Given the description of an element on the screen output the (x, y) to click on. 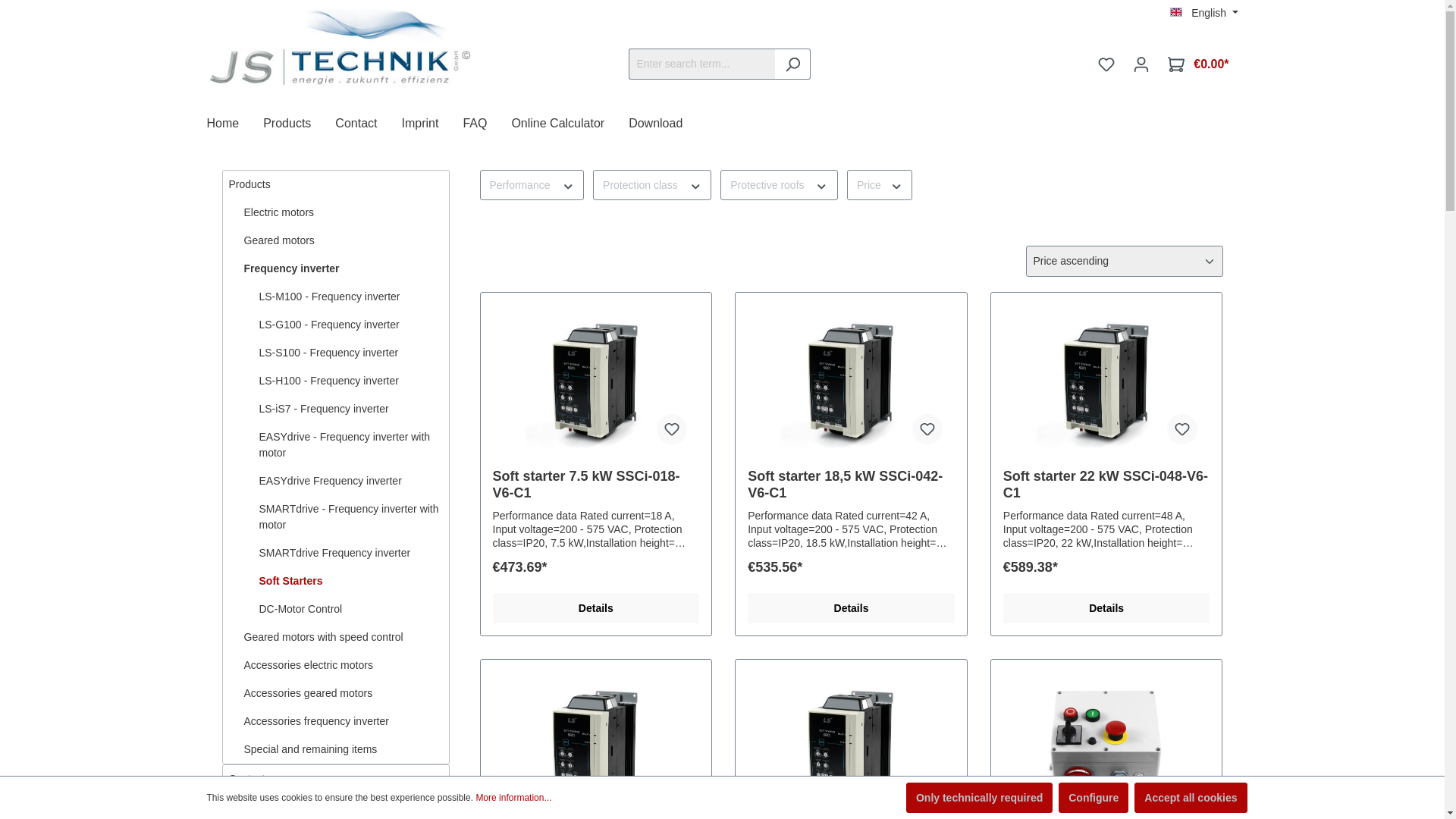
Wishlist (1106, 63)
Your account (1141, 63)
Contact (367, 125)
Shopping cart (1197, 63)
Home (234, 125)
Home (234, 125)
Contact (367, 125)
Products (298, 125)
Download (667, 125)
Go to homepage (338, 49)
